Given the description of an element on the screen output the (x, y) to click on. 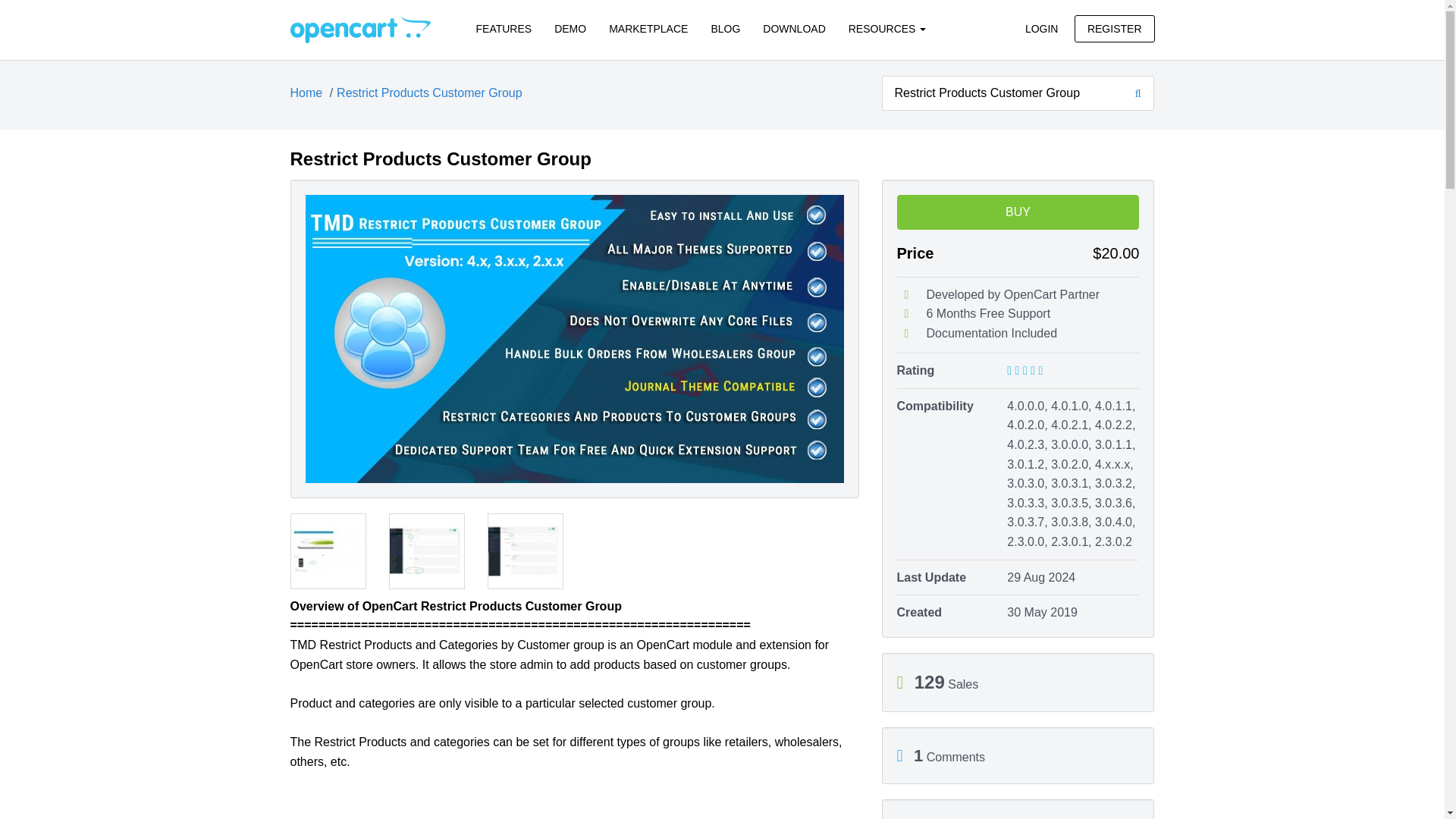
DOWNLOAD (793, 28)
FEATURES (503, 28)
DEMO (569, 28)
Restrict Products Customer Group (1001, 93)
Home (305, 92)
LOGIN (1041, 28)
Share (1017, 818)
BUY (1017, 212)
MARKETPLACE (647, 28)
Restrict Products Customer Group (429, 92)
